Given the description of an element on the screen output the (x, y) to click on. 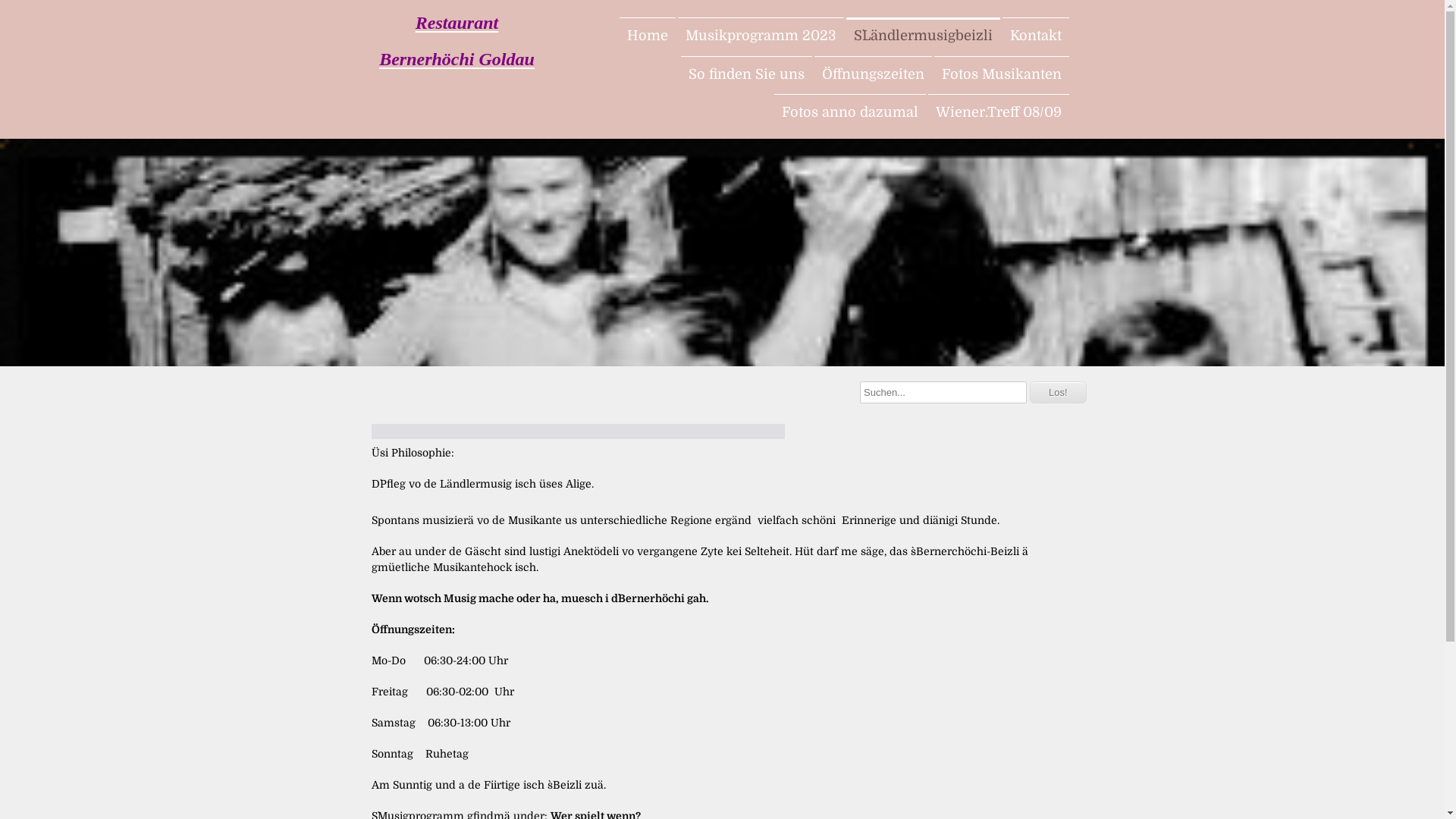
Wiener.Treff 08/09 Element type: text (998, 111)
Home Element type: text (646, 35)
Fotos Musikanten Element type: text (1001, 73)
Kontakt Element type: text (1035, 35)
Musikprogramm 2023 Element type: text (760, 35)
Los! Element type: text (1057, 392)
So finden Sie uns Element type: text (746, 73)
Fotos anno dazumal Element type: text (849, 111)
